Given the description of an element on the screen output the (x, y) to click on. 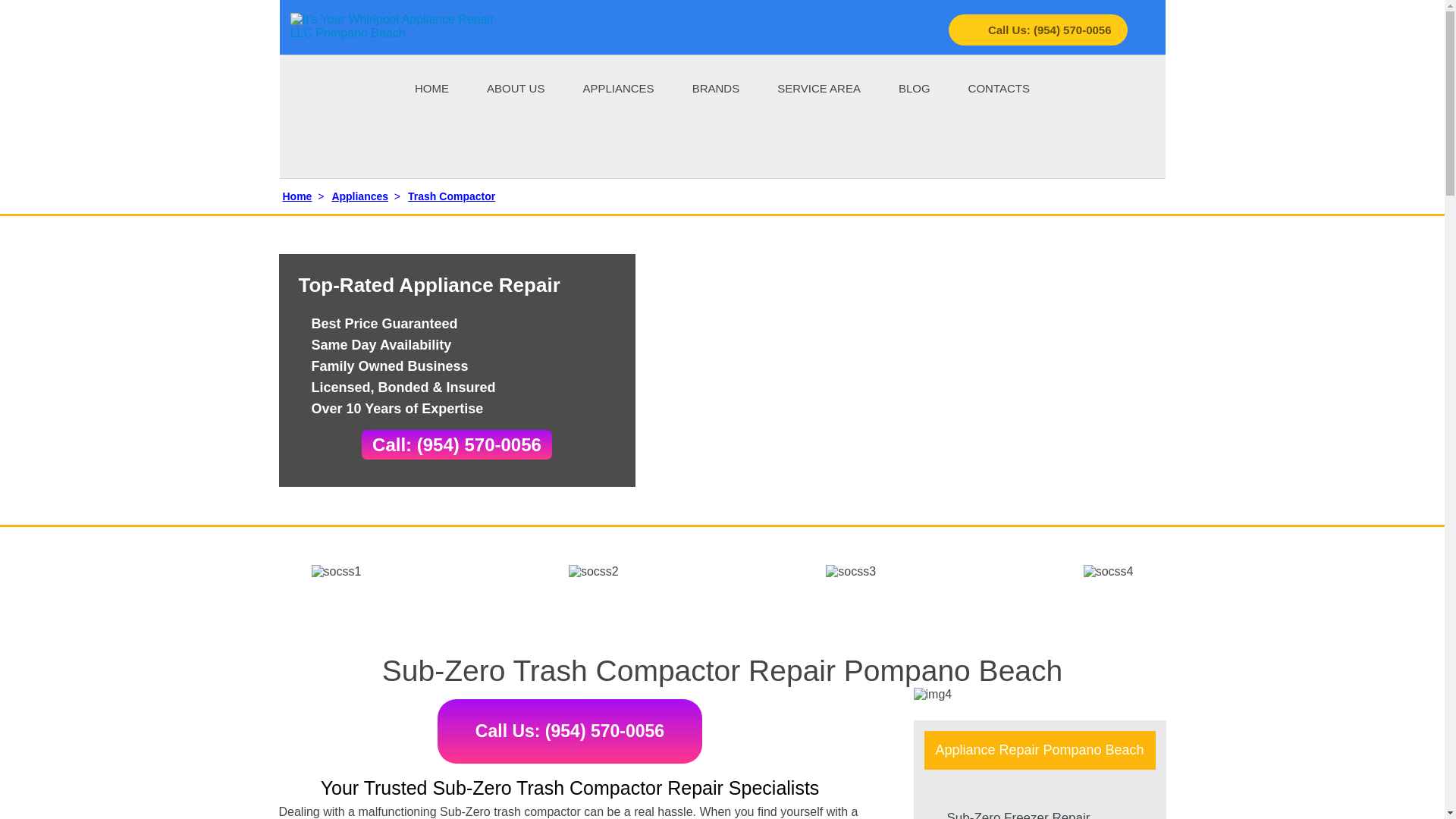
APPLIANCES (617, 87)
BRANDS (715, 87)
ABOUT US (515, 87)
HOME (431, 87)
